Given the description of an element on the screen output the (x, y) to click on. 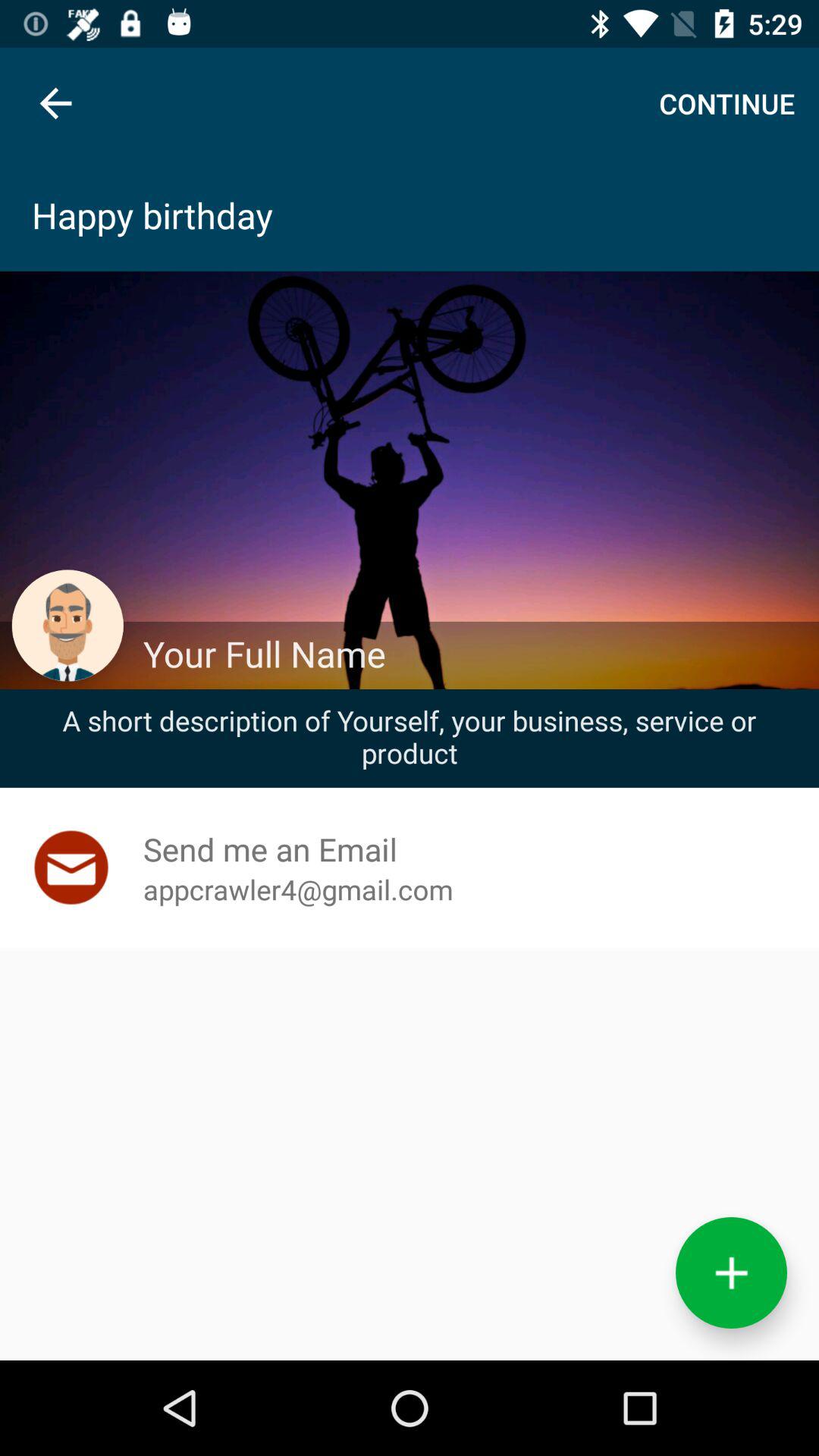
tap icon above the happy birthday (55, 103)
